Given the description of an element on the screen output the (x, y) to click on. 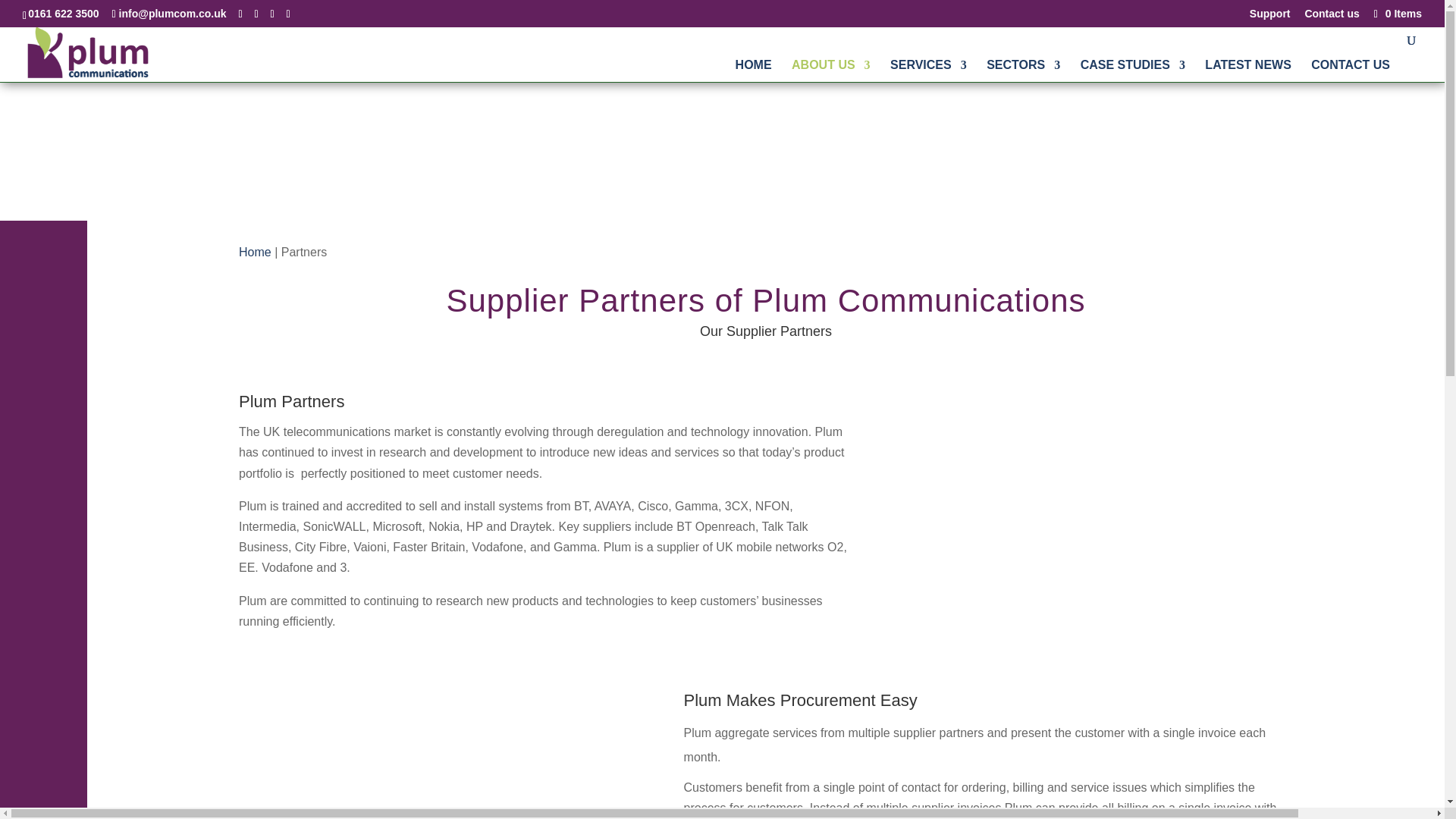
ABOUT US (831, 70)
0 Items (1396, 13)
Support (1269, 16)
HOME (753, 70)
SERVICES (927, 70)
Contact us (1331, 16)
